Given the description of an element on the screen output the (x, y) to click on. 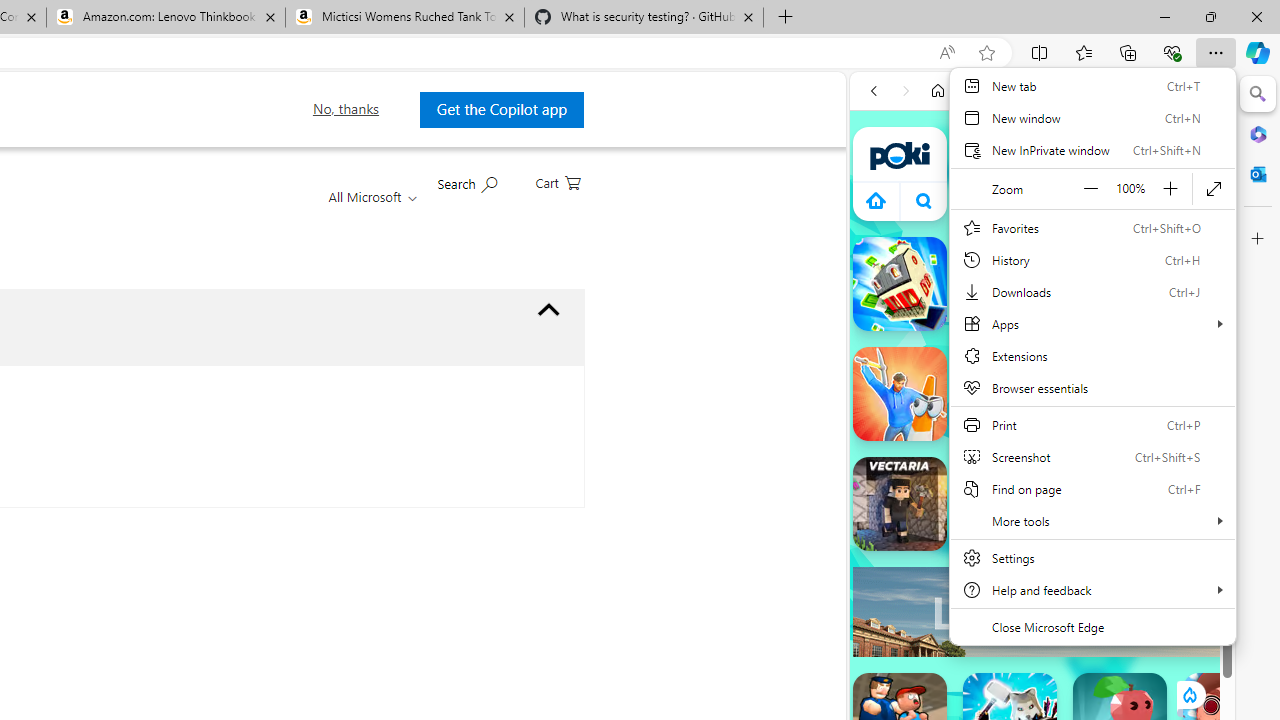
Settings and more (1092, 368)
History (1092, 259)
PLAYGROUND (1240, 282)
New window (1092, 117)
Extensions (1092, 355)
Zoom out (Ctrl+Minus key) (1091, 188)
Show More Two Player Games (1164, 570)
